Given the description of an element on the screen output the (x, y) to click on. 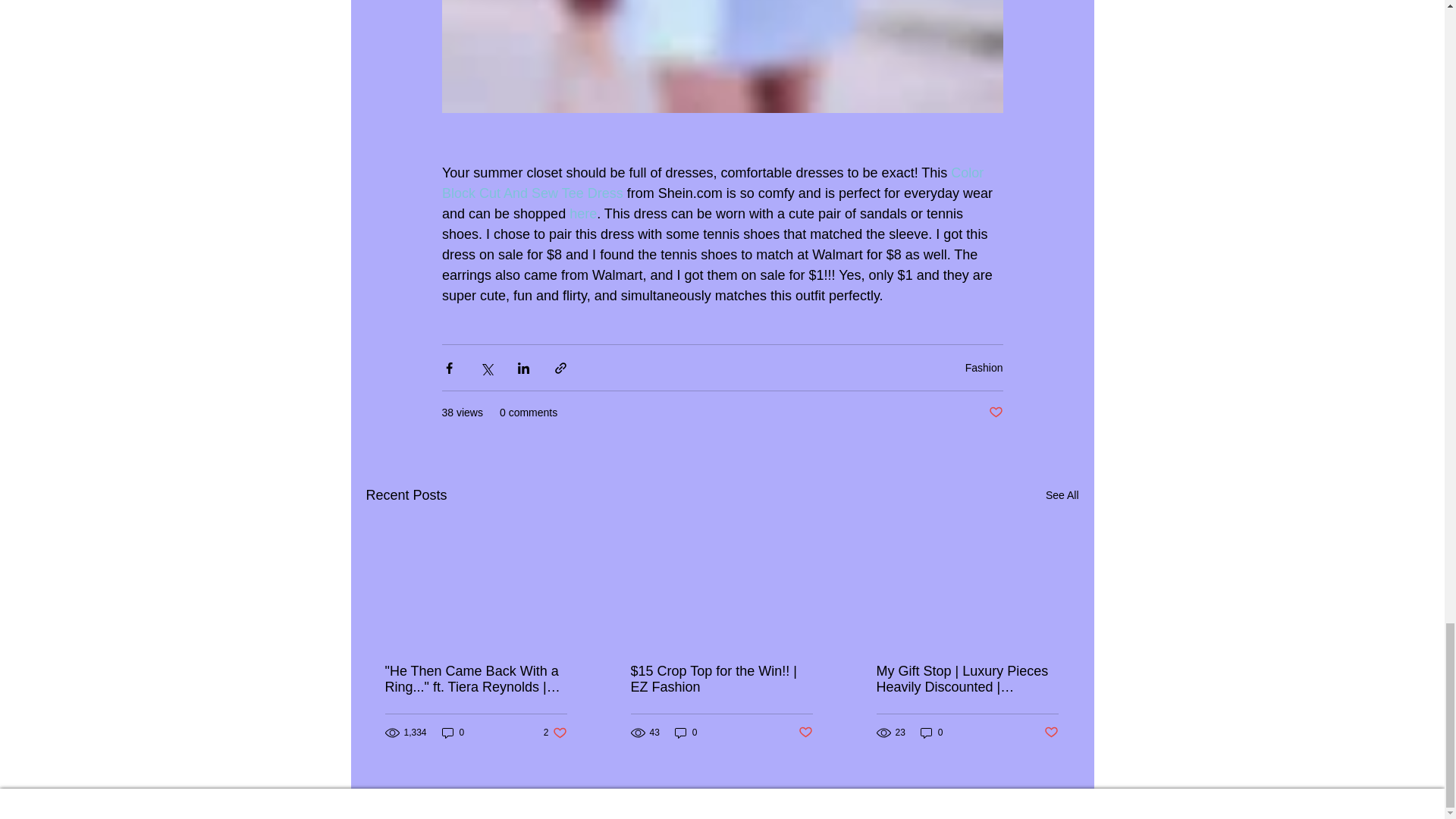
Post not marked as liked (804, 732)
See All (1061, 495)
Fashion (984, 367)
Post not marked as liked (995, 412)
here (555, 732)
0 (582, 213)
 Color Block Cut And Sew Tee Dress (685, 732)
0 (714, 182)
